Given the description of an element on the screen output the (x, y) to click on. 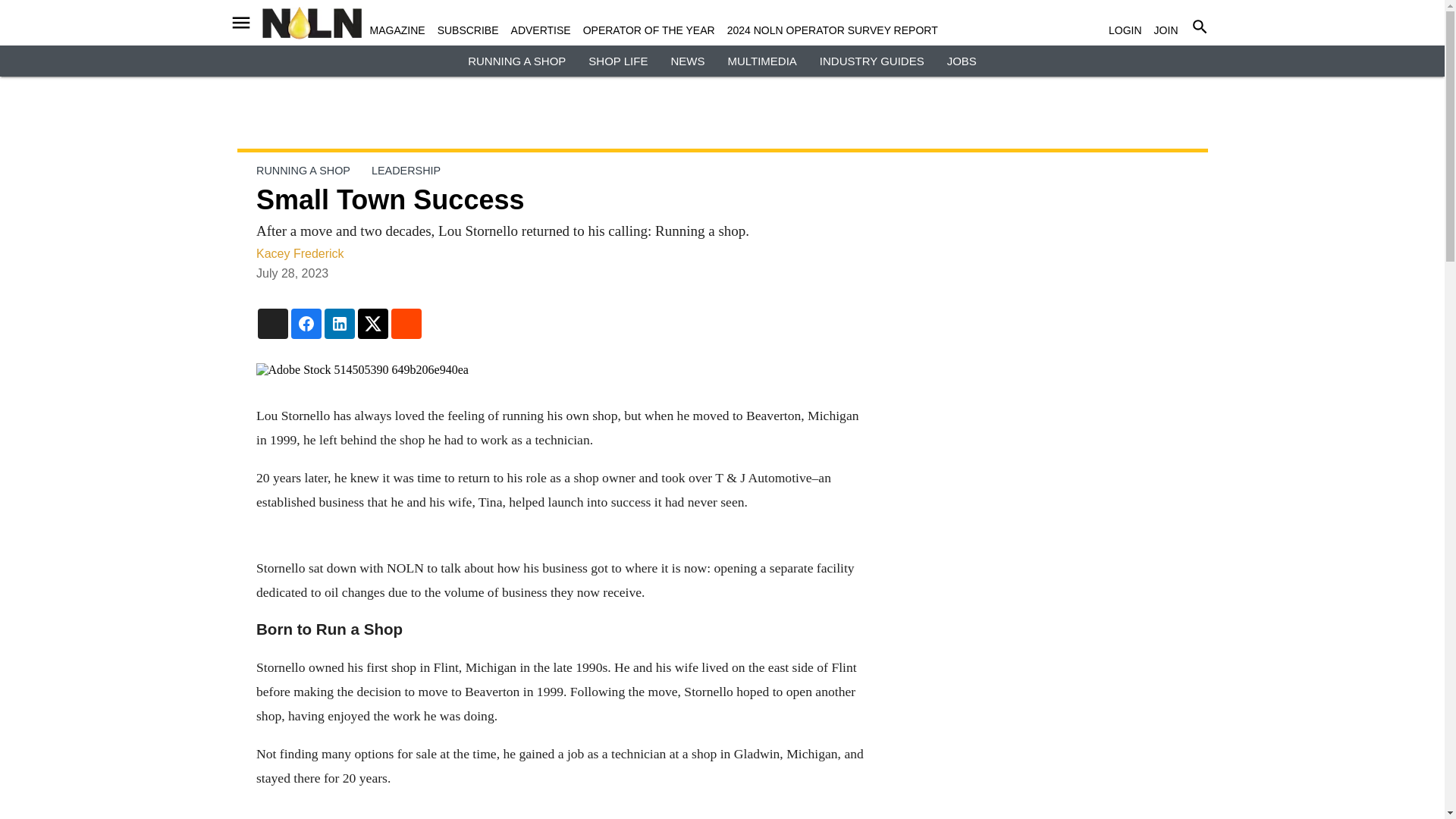
JOBS (961, 60)
Adobe Stock 514505390 649b206e940ea (560, 369)
MAGAZINE (397, 30)
INDUSTRY GUIDES (871, 60)
SUBSCRIBE (468, 30)
2024 NOLN OPERATOR SURVEY REPORT (831, 30)
NEWS (686, 60)
LOGIN (1124, 30)
JOIN (1165, 30)
RUNNING A SHOP (516, 60)
ADVERTISE (540, 30)
MULTIMEDIA (761, 60)
SHOP LIFE (617, 60)
OPERATOR OF THE YEAR (648, 30)
